Given the description of an element on the screen output the (x, y) to click on. 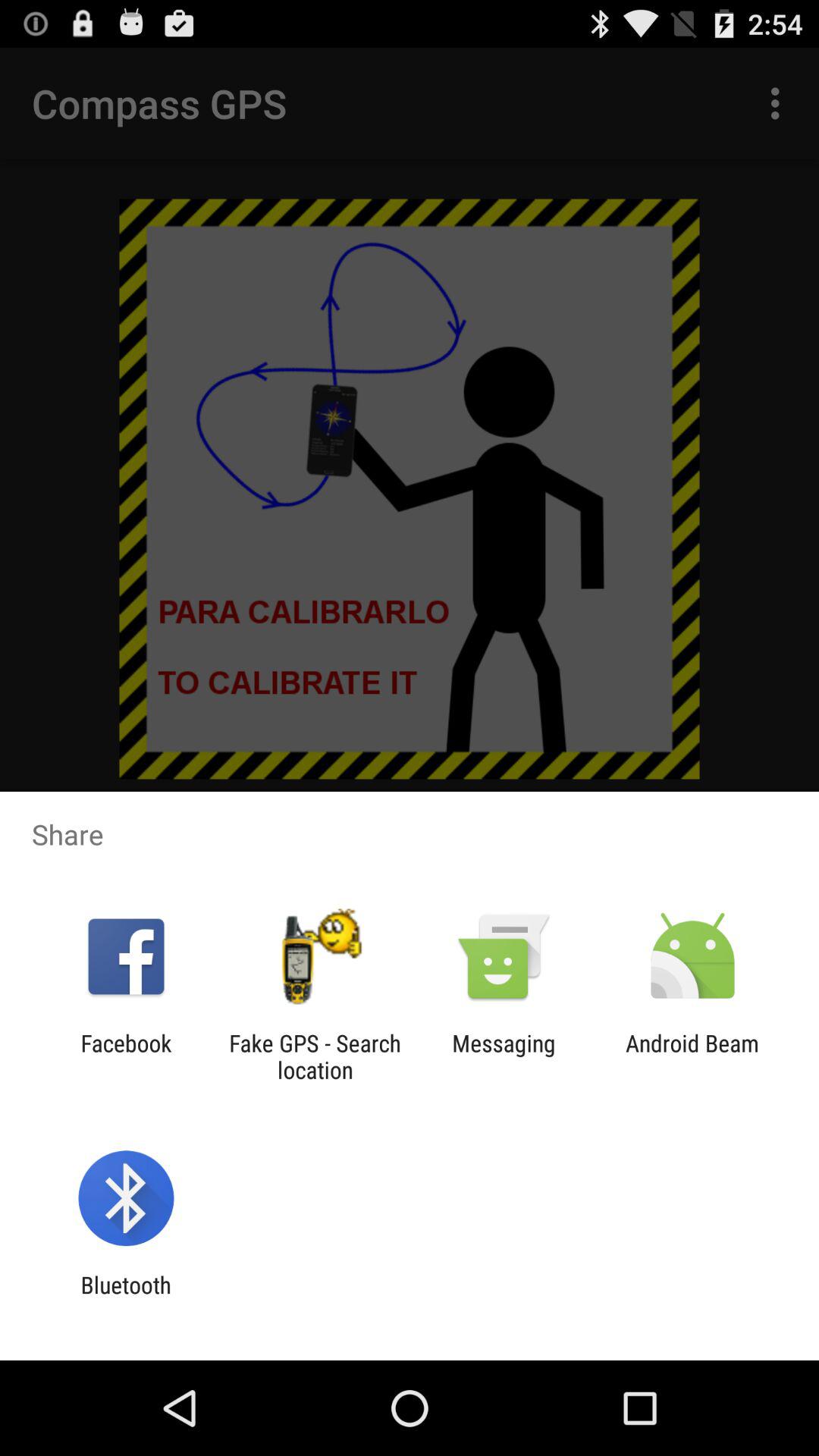
swipe until the android beam (692, 1056)
